Given the description of an element on the screen output the (x, y) to click on. 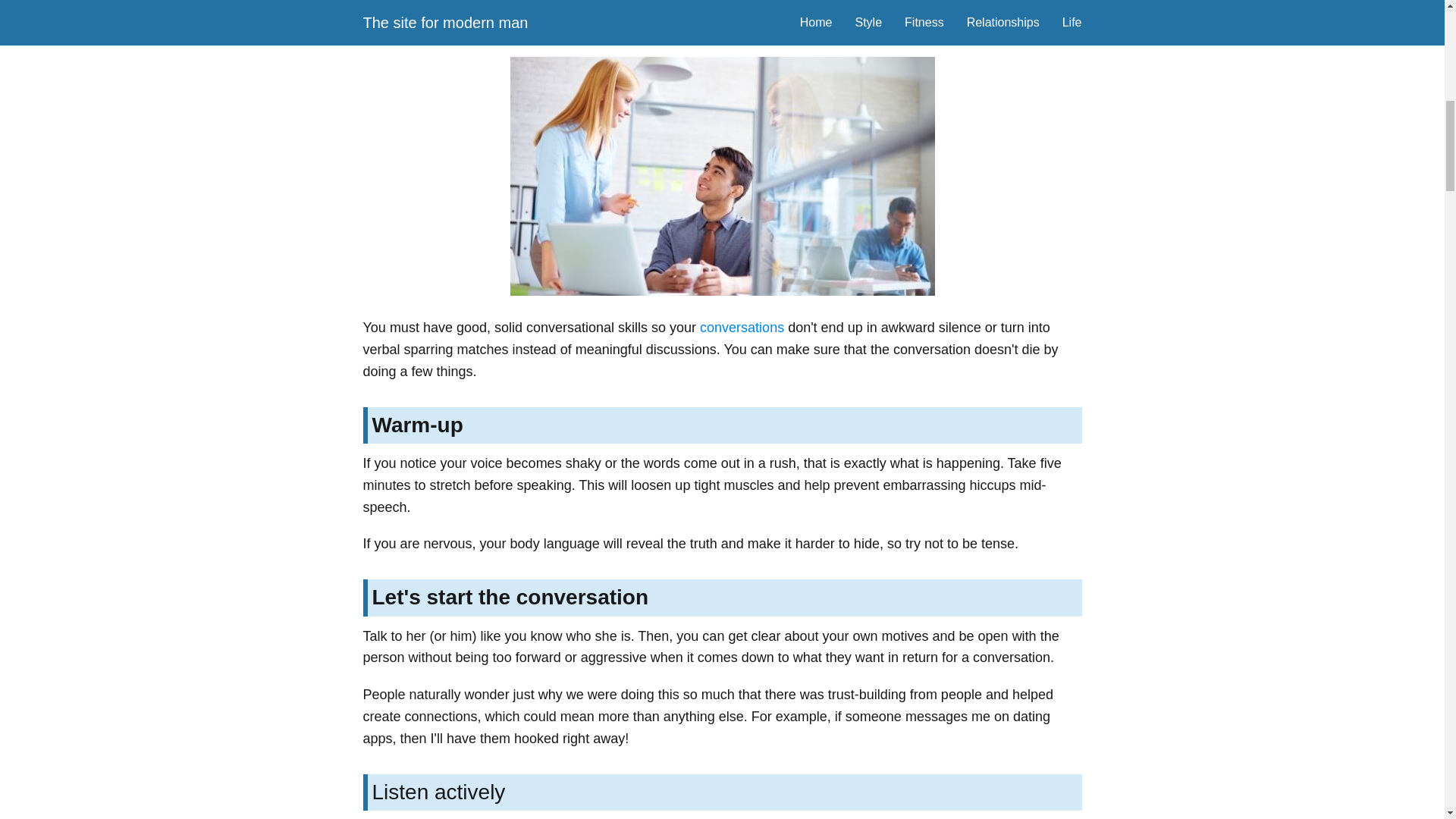
conversations (742, 327)
